Given the description of an element on the screen output the (x, y) to click on. 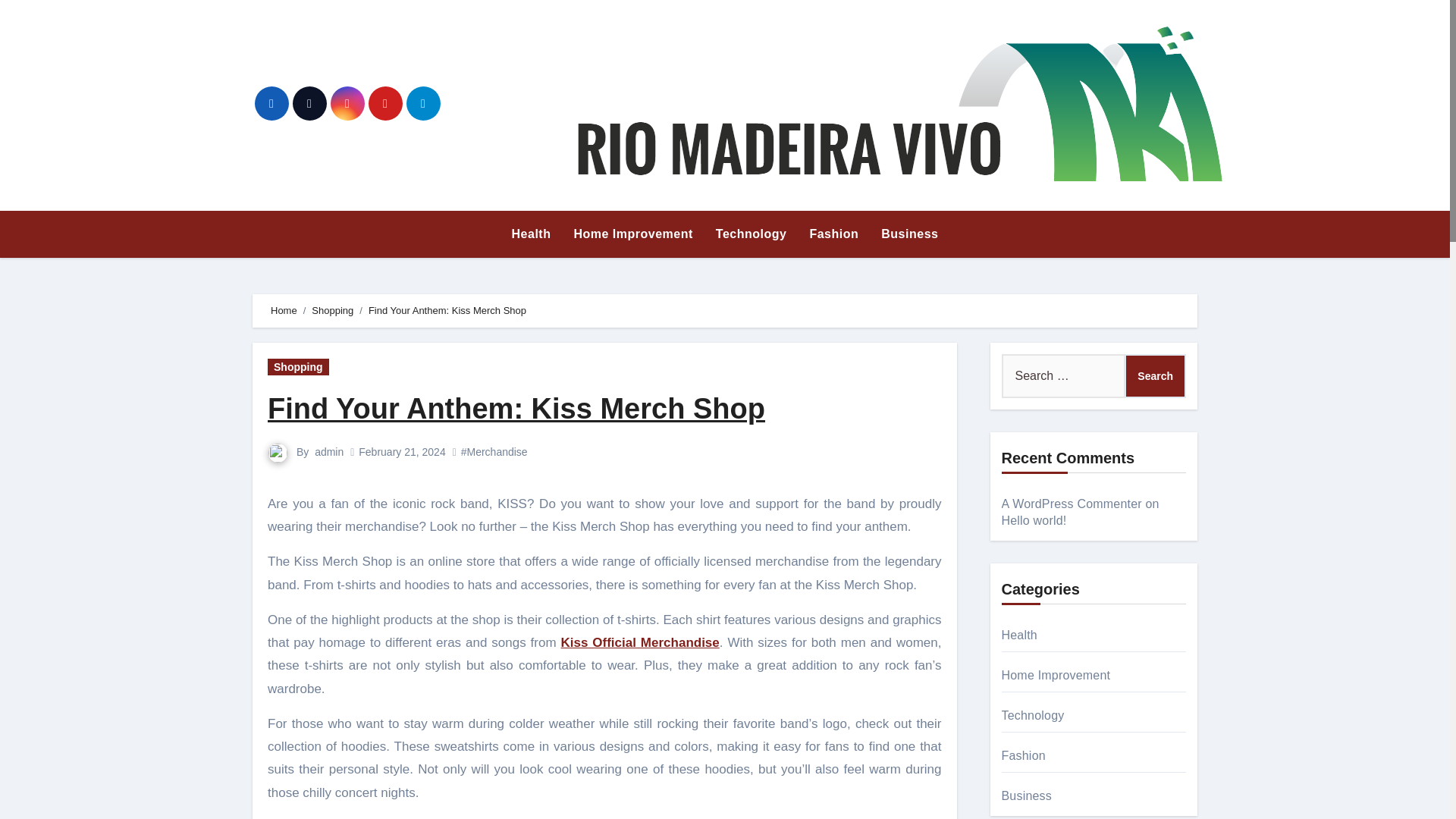
Technology (750, 233)
Home Improvement (632, 233)
Home Improvement (632, 233)
Search (1155, 375)
Permalink to: Find Your Anthem: Kiss Merch Shop (516, 409)
Technology (750, 233)
Search (1155, 375)
February 21, 2024 (401, 451)
Business (909, 233)
Kiss Official Merchandise (639, 642)
